Given the description of an element on the screen output the (x, y) to click on. 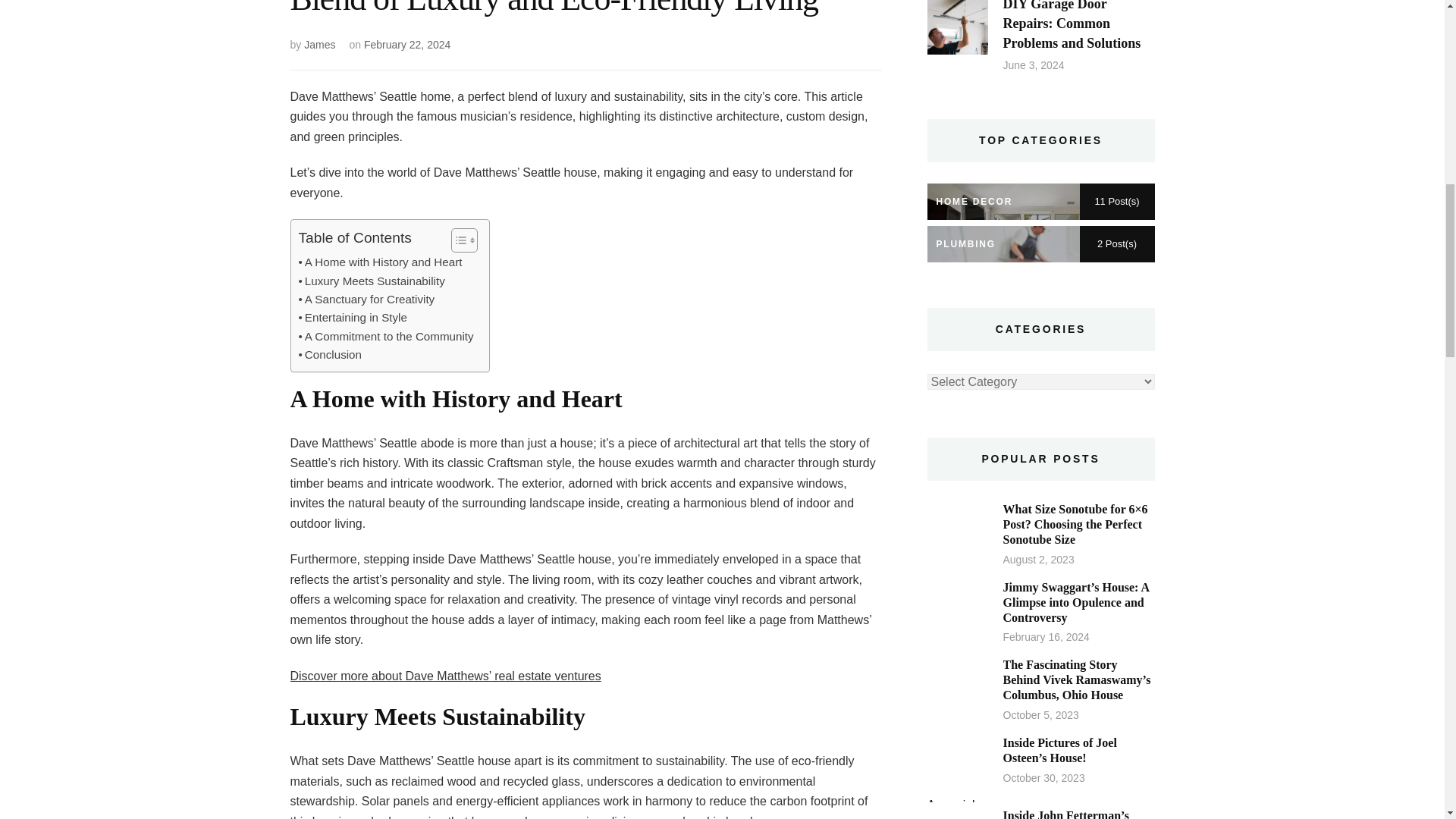
Conclusion (330, 354)
A Home with History and Heart (380, 262)
Entertaining in Style (352, 317)
A Commitment to the Community (386, 336)
February 22, 2024 (406, 44)
Luxury Meets Sustainability (371, 280)
Entertaining in Style (352, 317)
A Commitment to the Community (386, 336)
Luxury Meets Sustainability (371, 280)
James (319, 44)
